Given the description of an element on the screen output the (x, y) to click on. 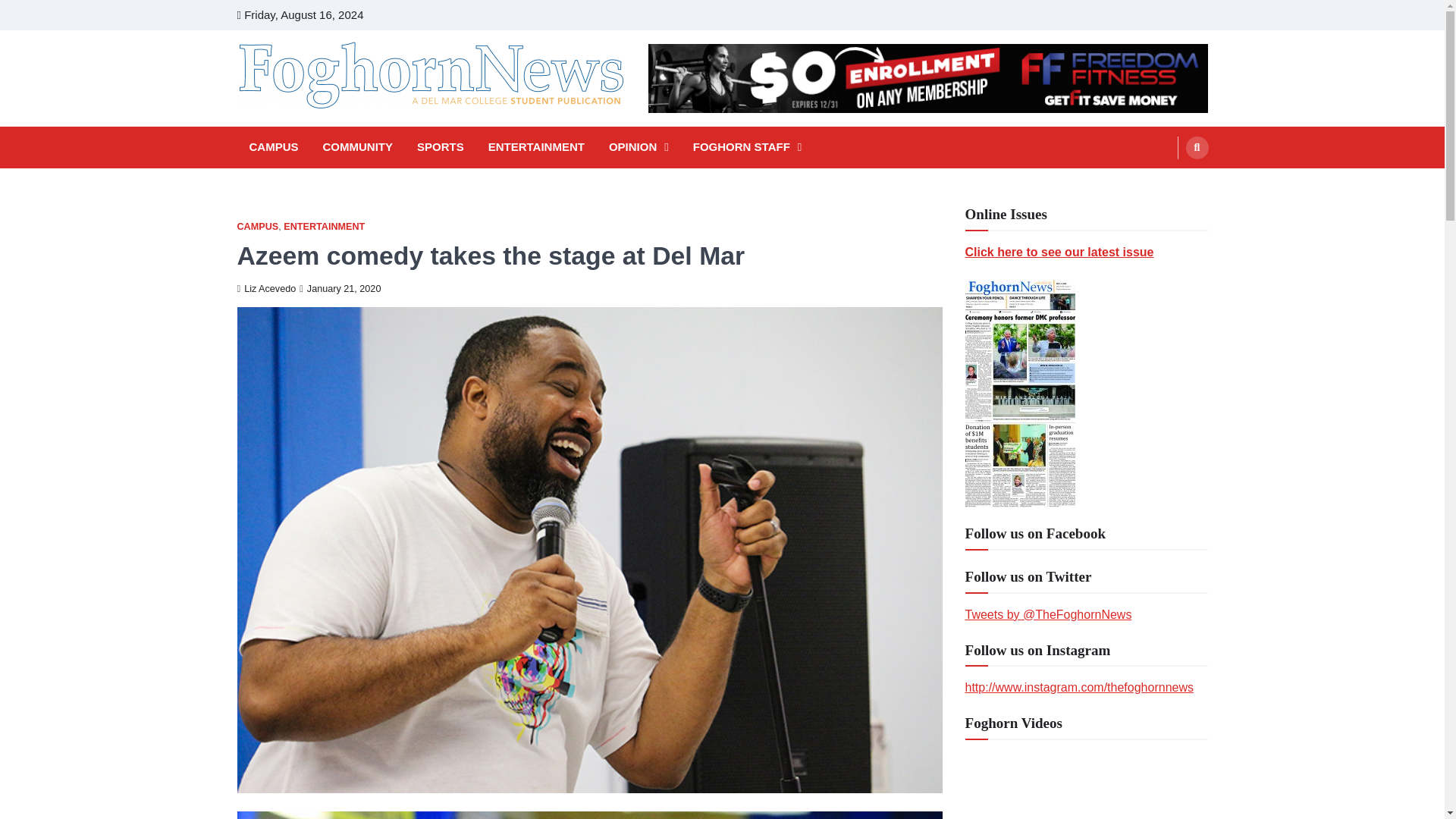
FOGHORN NEWS (342, 130)
January 21, 2020 (339, 288)
CAMPUS (273, 147)
COMMUNITY (357, 147)
Click here to see our latest issue (1058, 251)
Search (1197, 147)
FOGHORN STAFF (747, 147)
ENTERTAINMENT (536, 147)
Liz Acevedo (265, 288)
CAMPUS (256, 226)
